Given the description of an element on the screen output the (x, y) to click on. 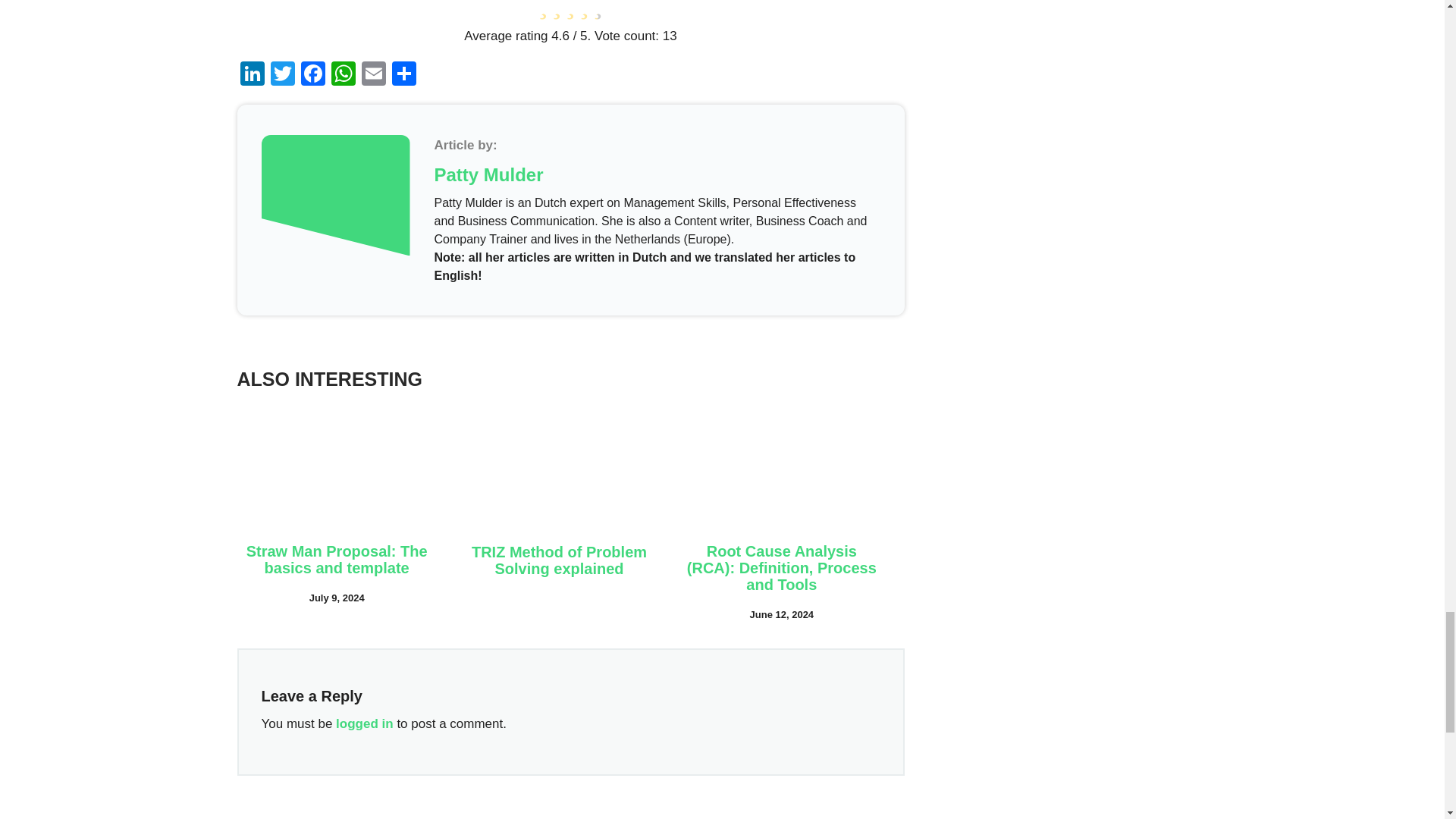
Email (373, 75)
LinkedIn (250, 75)
Facebook (312, 75)
WhatsApp (342, 75)
Twitter (281, 75)
